Given the description of an element on the screen output the (x, y) to click on. 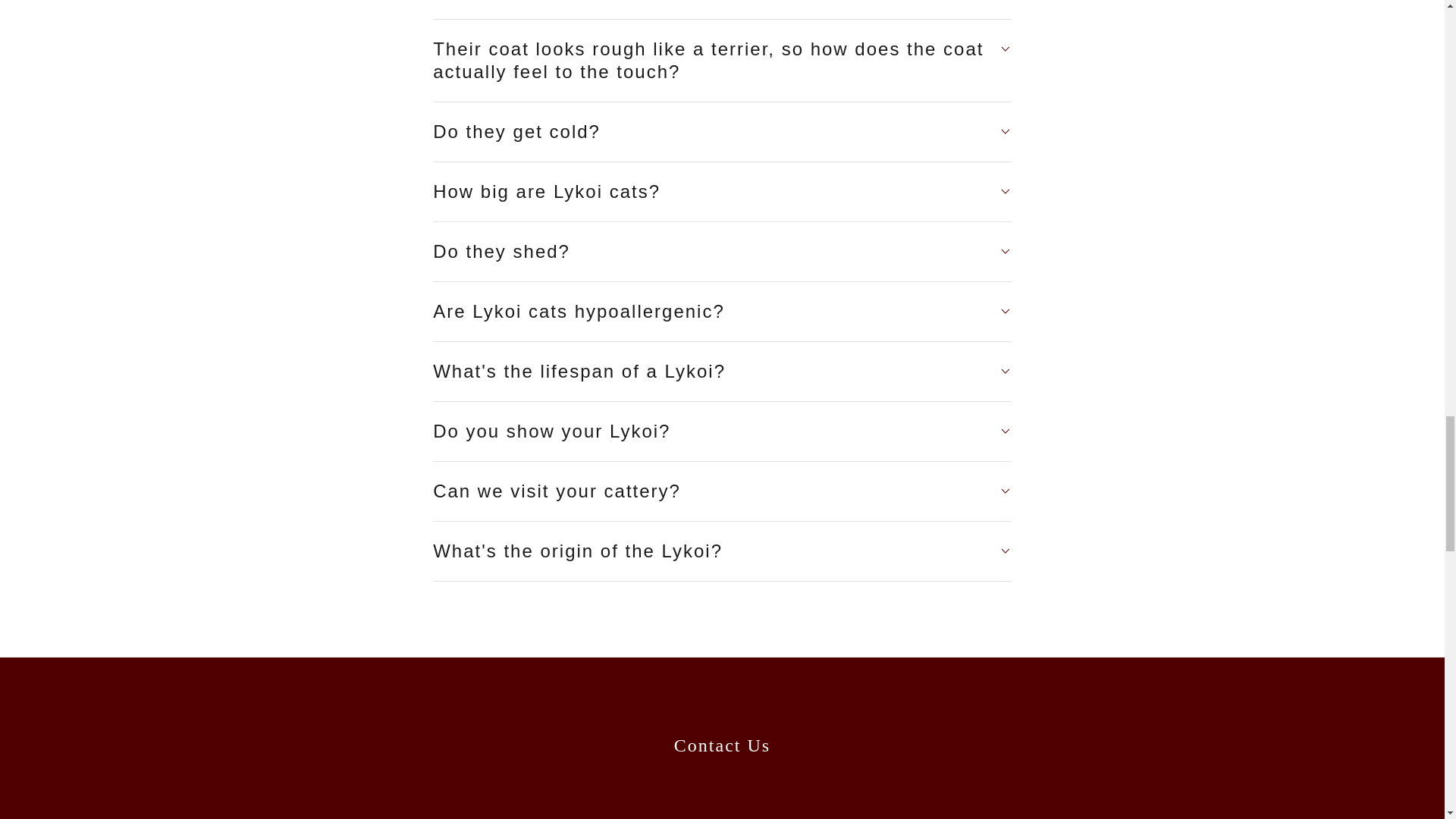
Do they shed? (721, 251)
What's the origin of the Lykoi? (721, 550)
What's the lifespan of a Lykoi? (721, 371)
Do they get cold? (721, 131)
Can we visit your cattery? (721, 491)
Are Lykoi cats hypoallergenic? (721, 311)
Do you show your Lykoi? (721, 431)
How big are Lykoi cats? (721, 191)
